Given the description of an element on the screen output the (x, y) to click on. 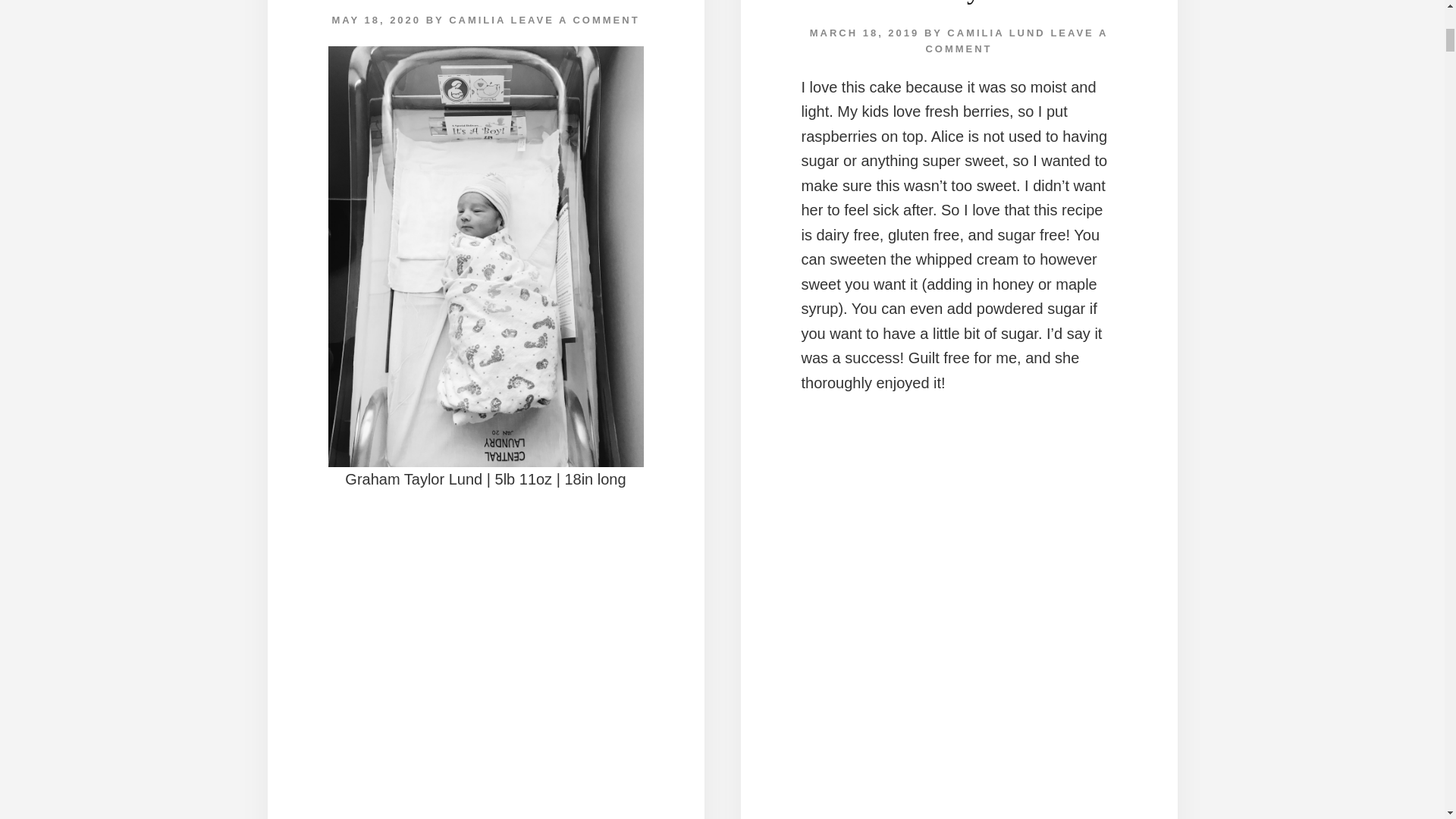
Best Birthday Cake for your baby! (958, 2)
CAMILIA LUND (996, 32)
LEAVE A COMMENT (1016, 40)
CAMILIA (476, 19)
LEAVE A COMMENT (575, 19)
